Given the description of an element on the screen output the (x, y) to click on. 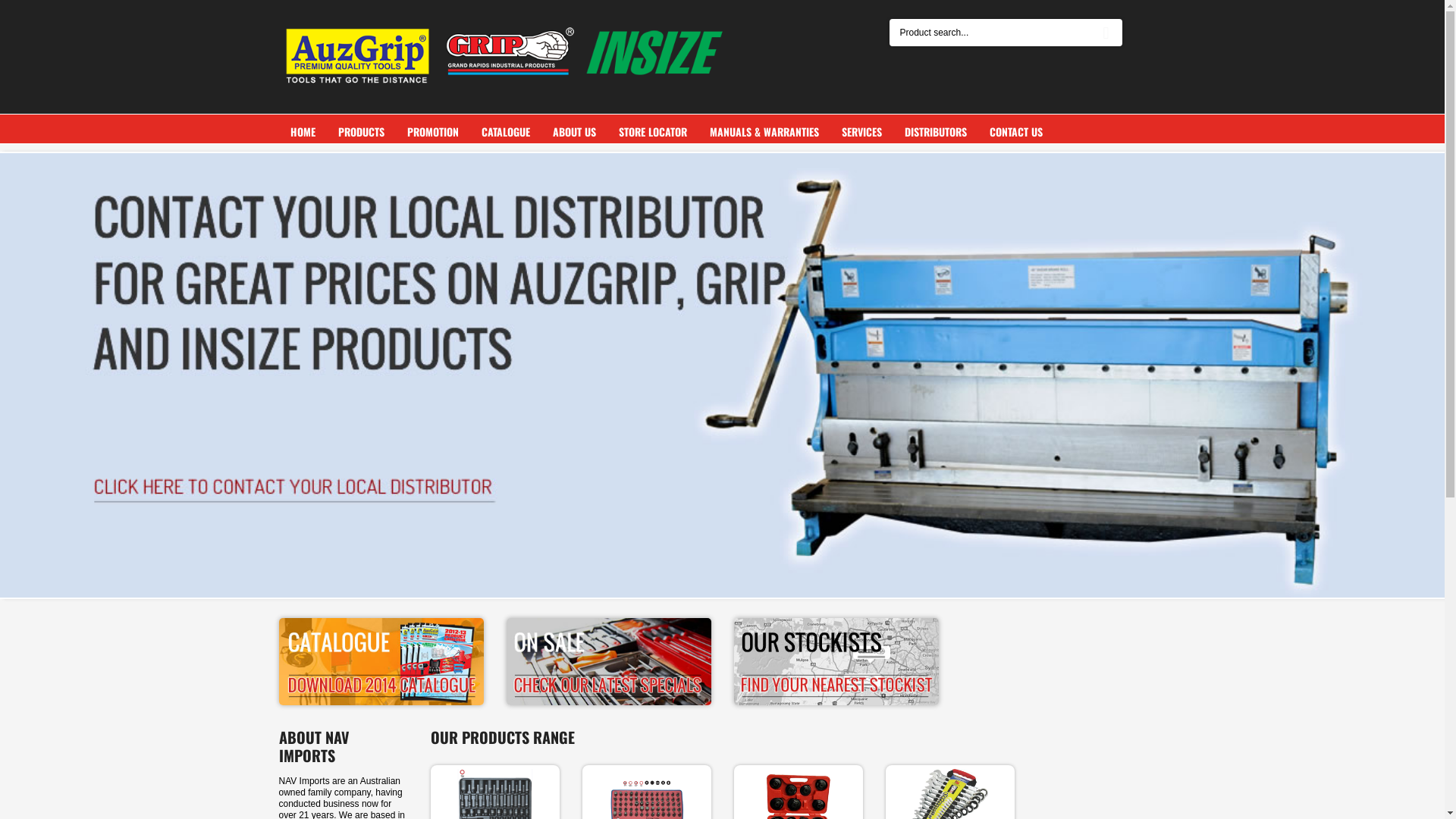
ABOUT US Element type: text (574, 131)
banner2 Element type: hover (608, 661)
banner1 Element type: hover (381, 661)
slide3 Element type: hover (722, 375)
CONTACT US Element type: text (1016, 131)
banner3 Element type: hover (836, 661)
MANUALS & WARRANTIES Element type: text (763, 131)
CATALOGUE Element type: text (505, 131)
STORE LOCATOR Element type: text (651, 131)
Nav Imports Australia Element type: hover (506, 53)
DISTRIBUTORS Element type: text (935, 131)
HOME Element type: text (302, 131)
PROMOTION Element type: text (432, 131)
PRODUCTS Element type: text (360, 131)
SERVICES Element type: text (860, 131)
